Given the description of an element on the screen output the (x, y) to click on. 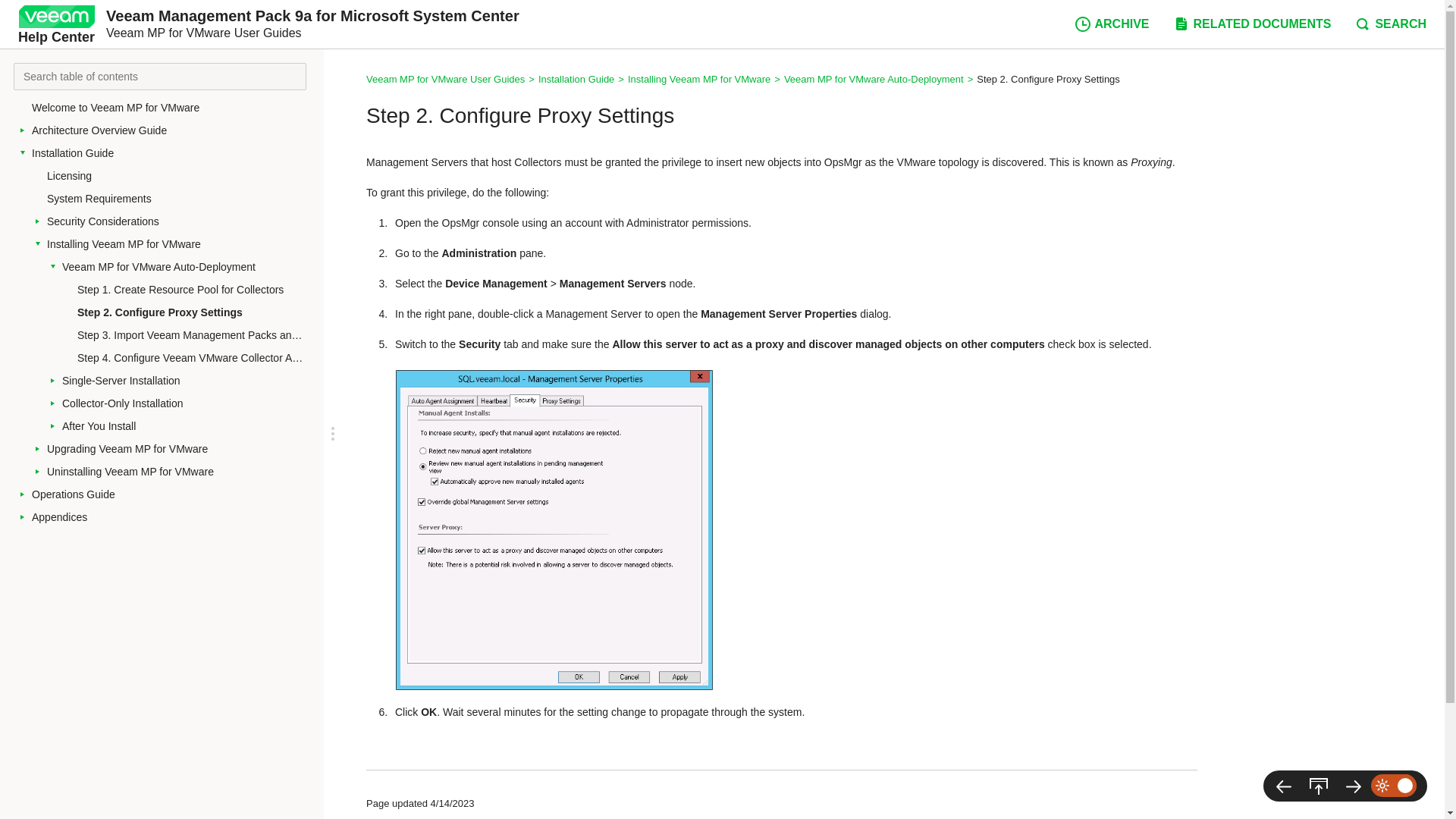
Architecture Overview Guide (173, 129)
Welcome to Veeam MP for VMware (173, 107)
Installation Guide (173, 152)
ARCHIVE (1112, 24)
System Requirements (179, 198)
Licensing (179, 175)
SEARCH (1390, 24)
Installation Guide (173, 152)
Licensing (179, 175)
Welcome to Veeam MP for VMware (173, 107)
